Given the description of an element on the screen output the (x, y) to click on. 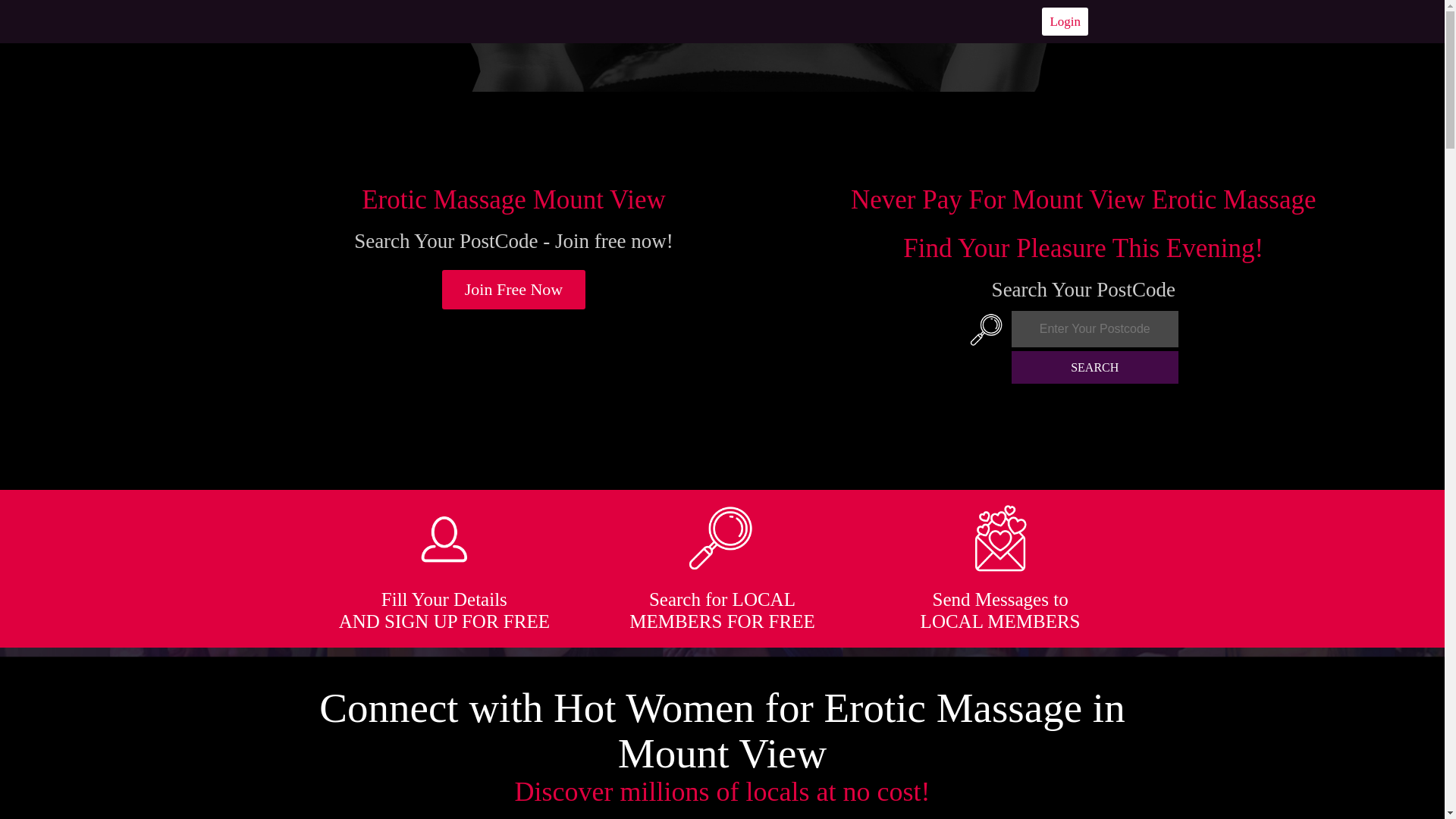
Join Free Now (514, 289)
Login (1064, 21)
SEARCH (1094, 367)
Join (514, 289)
Login (1064, 21)
